Given the description of an element on the screen output the (x, y) to click on. 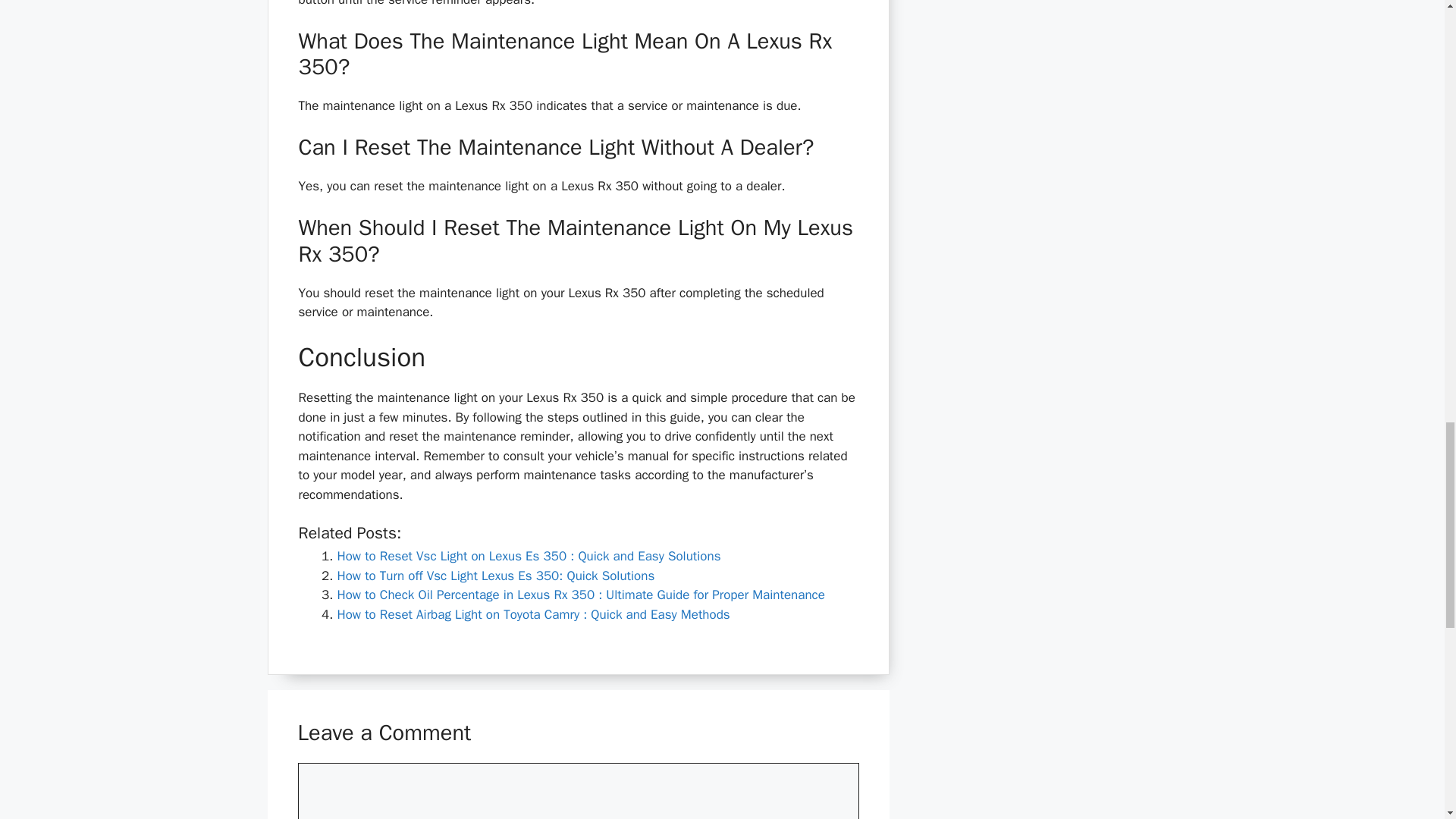
How to Turn off Vsc Light Lexus Es 350: Quick Solutions (494, 575)
How to Turn off Vsc Light Lexus Es 350: Quick Solutions (494, 575)
